Given the description of an element on the screen output the (x, y) to click on. 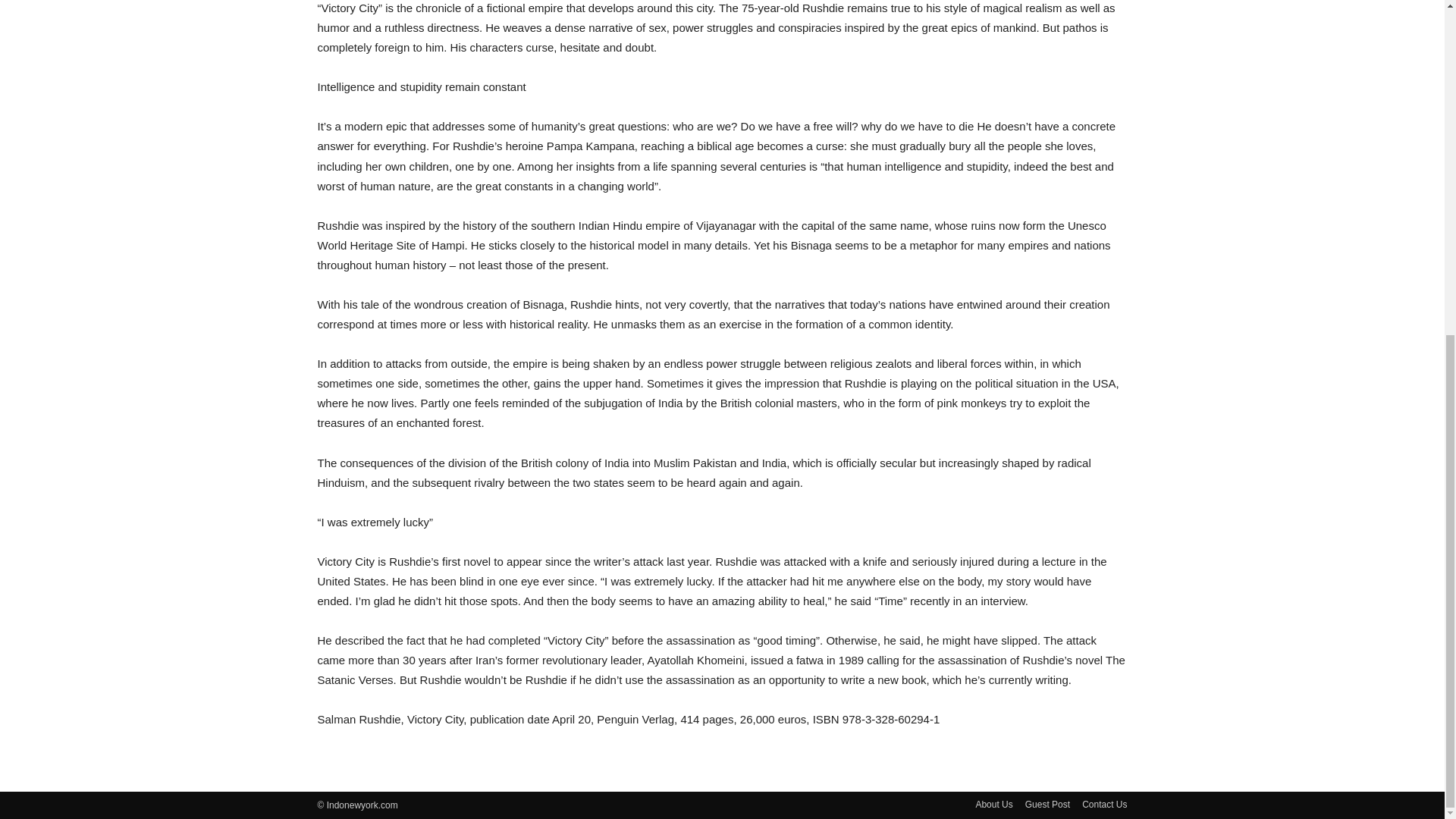
About Us (993, 804)
Contact Us (1103, 804)
Guest Post (1047, 804)
